Given the description of an element on the screen output the (x, y) to click on. 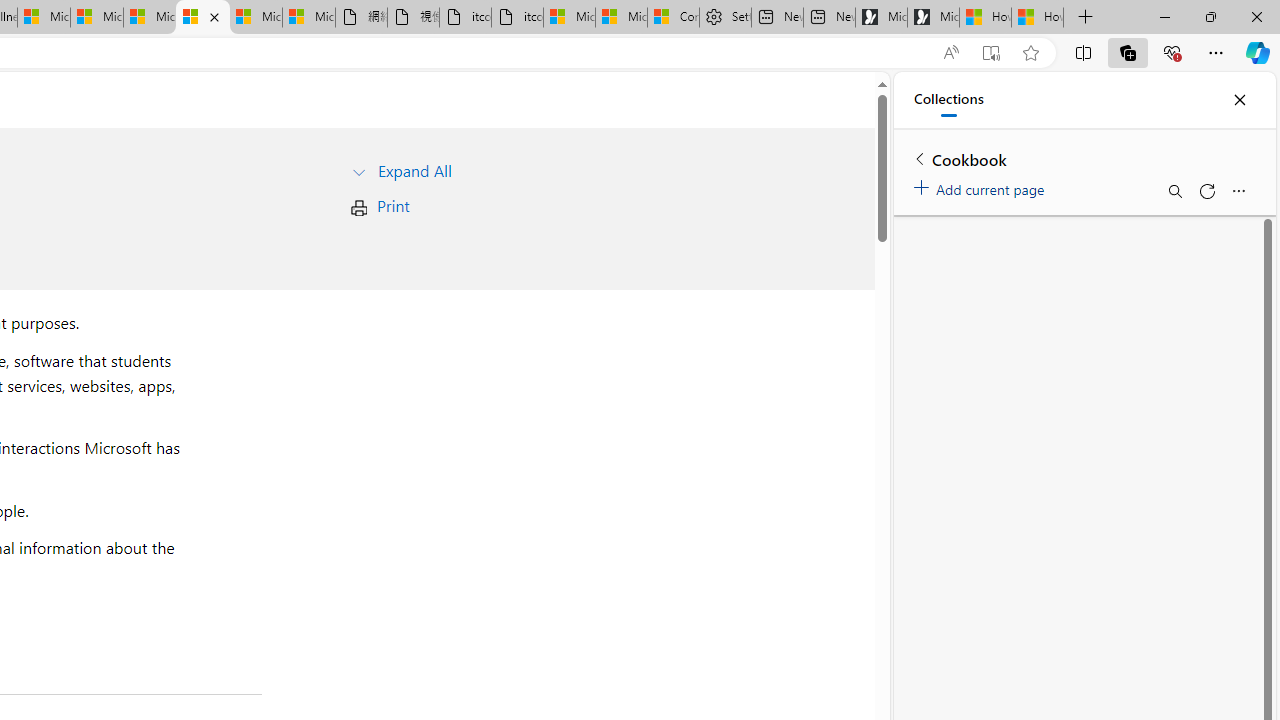
Consumer Health Data Privacy Policy (672, 17)
Microsoft Services Agreement (96, 17)
How to Use a TV as a Computer Monitor (1037, 17)
itconcepthk.com/projector_solutions.mp4 (516, 17)
More options menu (1238, 190)
